Given the description of an element on the screen output the (x, y) to click on. 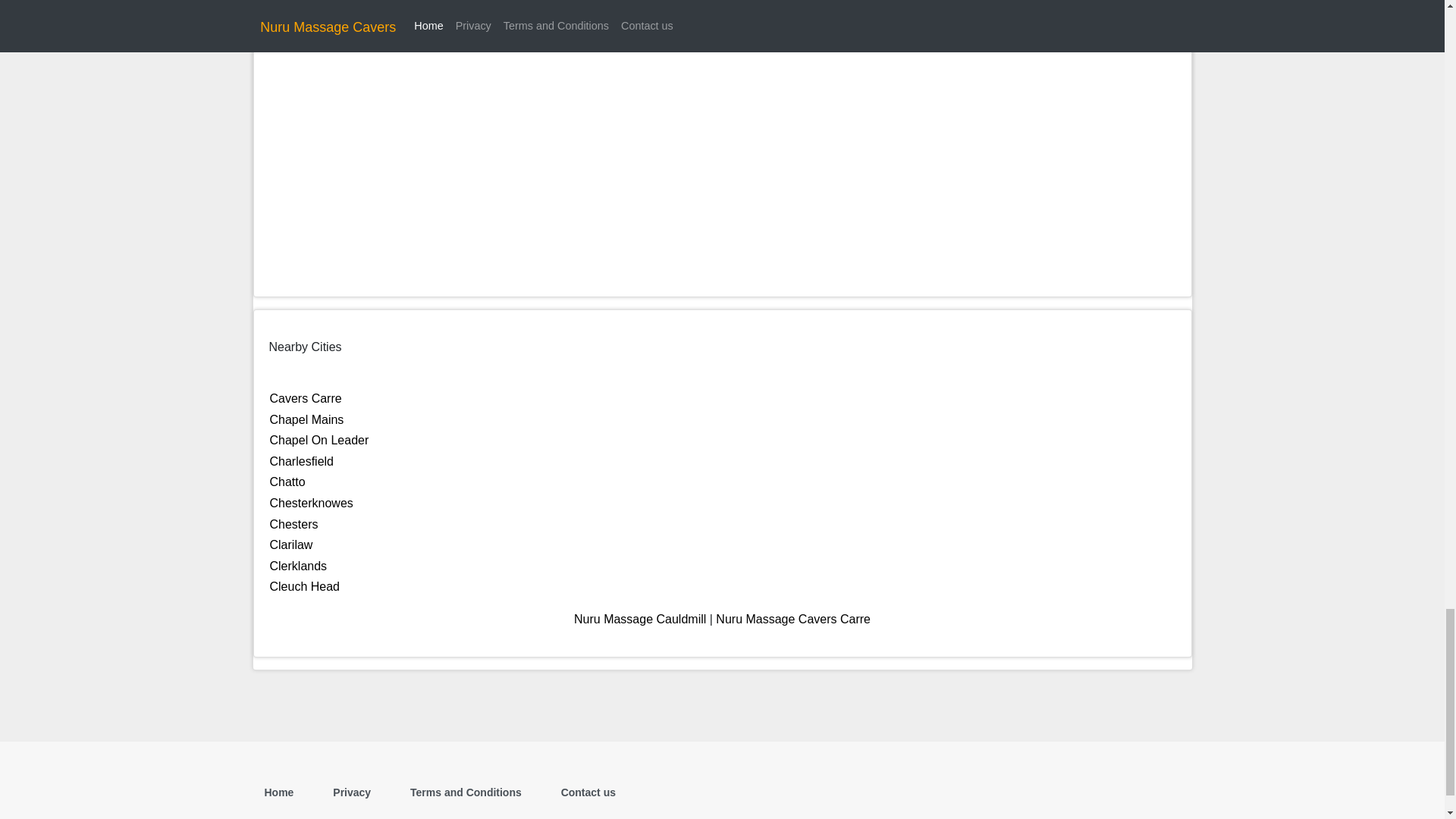
Chesterknowes (311, 502)
Chapel On Leader (319, 440)
Chatto (287, 481)
Nuru Massage Cavers Carre (793, 618)
Chapel Mains (306, 419)
Cavers Carre (305, 398)
Chesters (293, 523)
Charlesfield (301, 461)
Clerklands (298, 565)
Nuru Massage Cauldmill (639, 618)
